Given the description of an element on the screen output the (x, y) to click on. 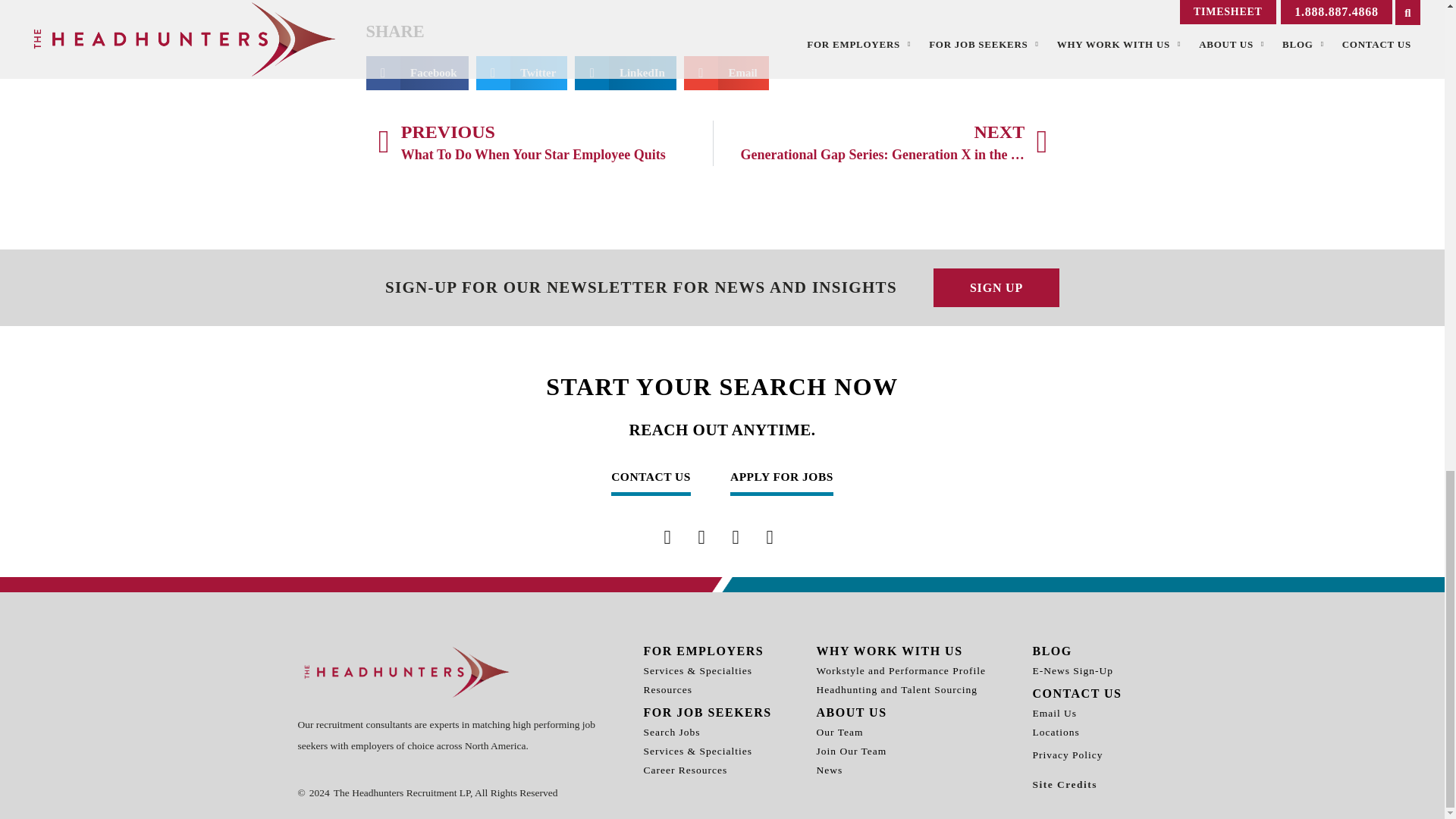
Follow The Headhunters on Facebook (666, 536)
Connect with The Headhunters on LinkedIn (735, 536)
Subscribe to The Headhunters on YouTube (770, 536)
Follow The Headhunters on Twitter (701, 536)
